Given the description of an element on the screen output the (x, y) to click on. 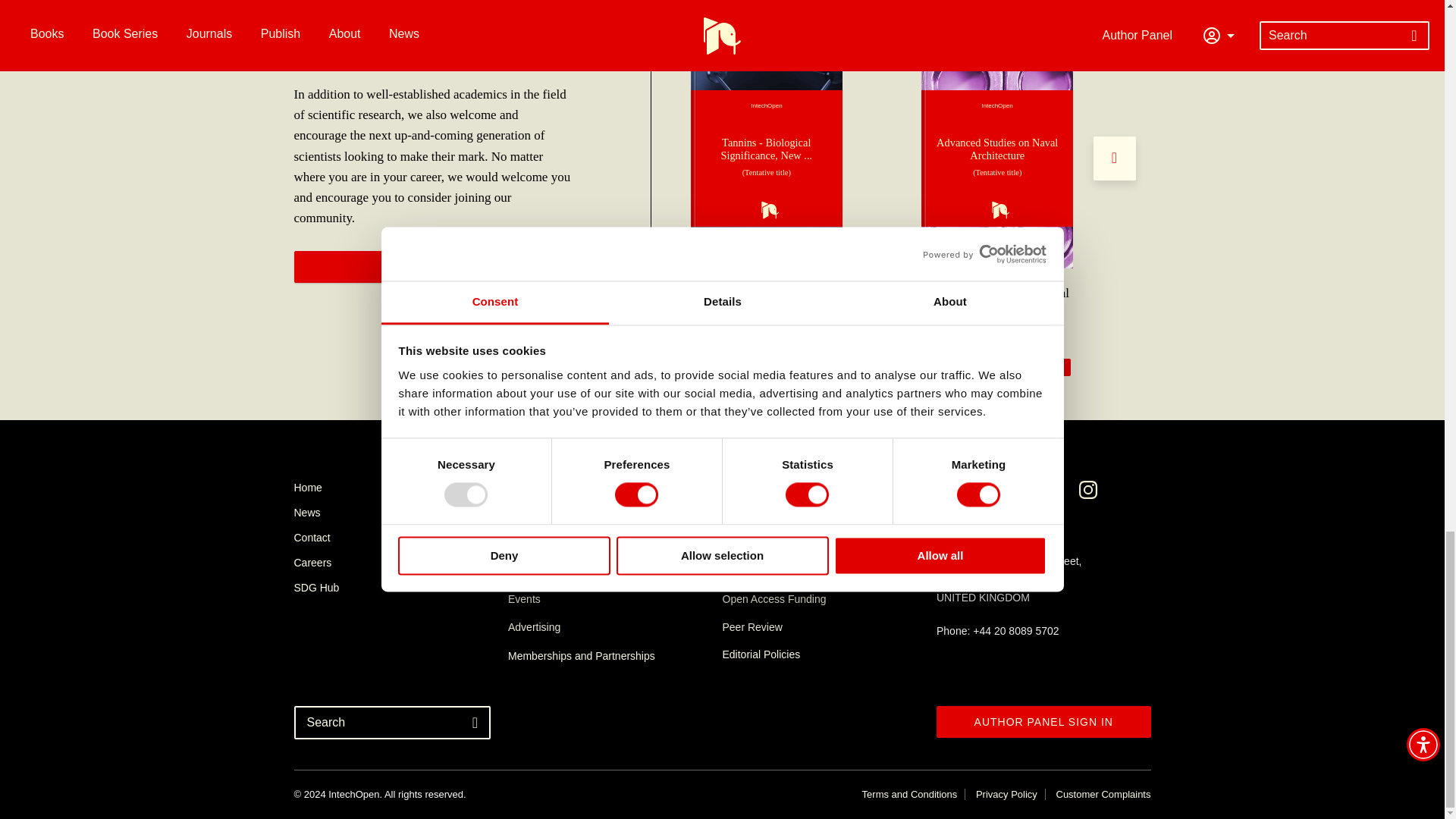
IntechOpen (766, 158)
IntechOpen (997, 158)
